Given the description of an element on the screen output the (x, y) to click on. 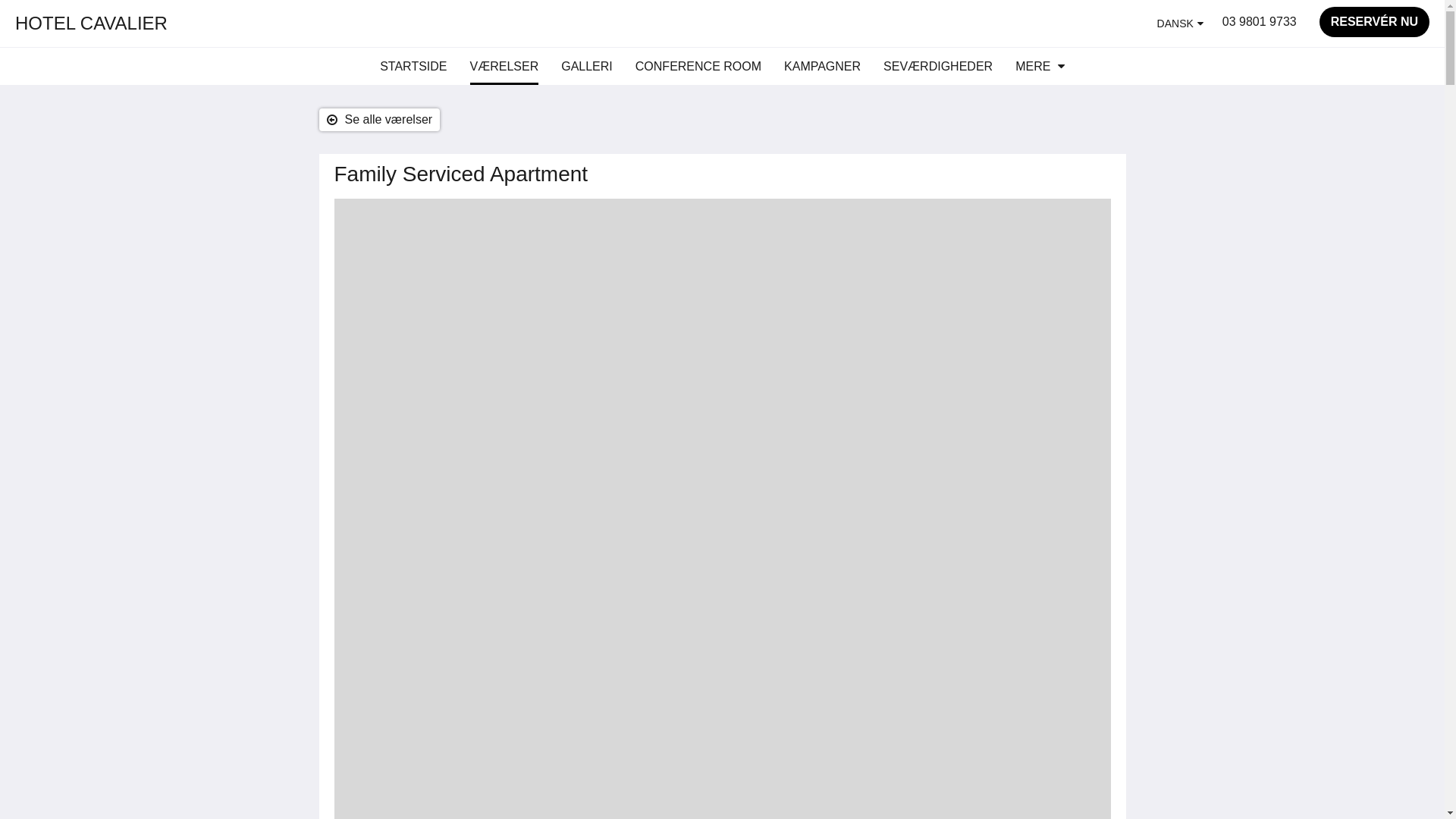
click to zoom-in Element type: hover (721, 350)
STARTSIDE Element type: text (412, 66)
click to zoom-in Element type: hover (721, 653)
DANSK Element type: text (1180, 23)
MERE Element type: text (1039, 66)
KAMPAGNER Element type: text (822, 66)
GALLERI Element type: text (586, 66)
03 9801 9733 Element type: text (1259, 21)
HOTEL CAVALIER Element type: text (91, 22)
CONFERENCE ROOM Element type: text (698, 66)
